Given the description of an element on the screen output the (x, y) to click on. 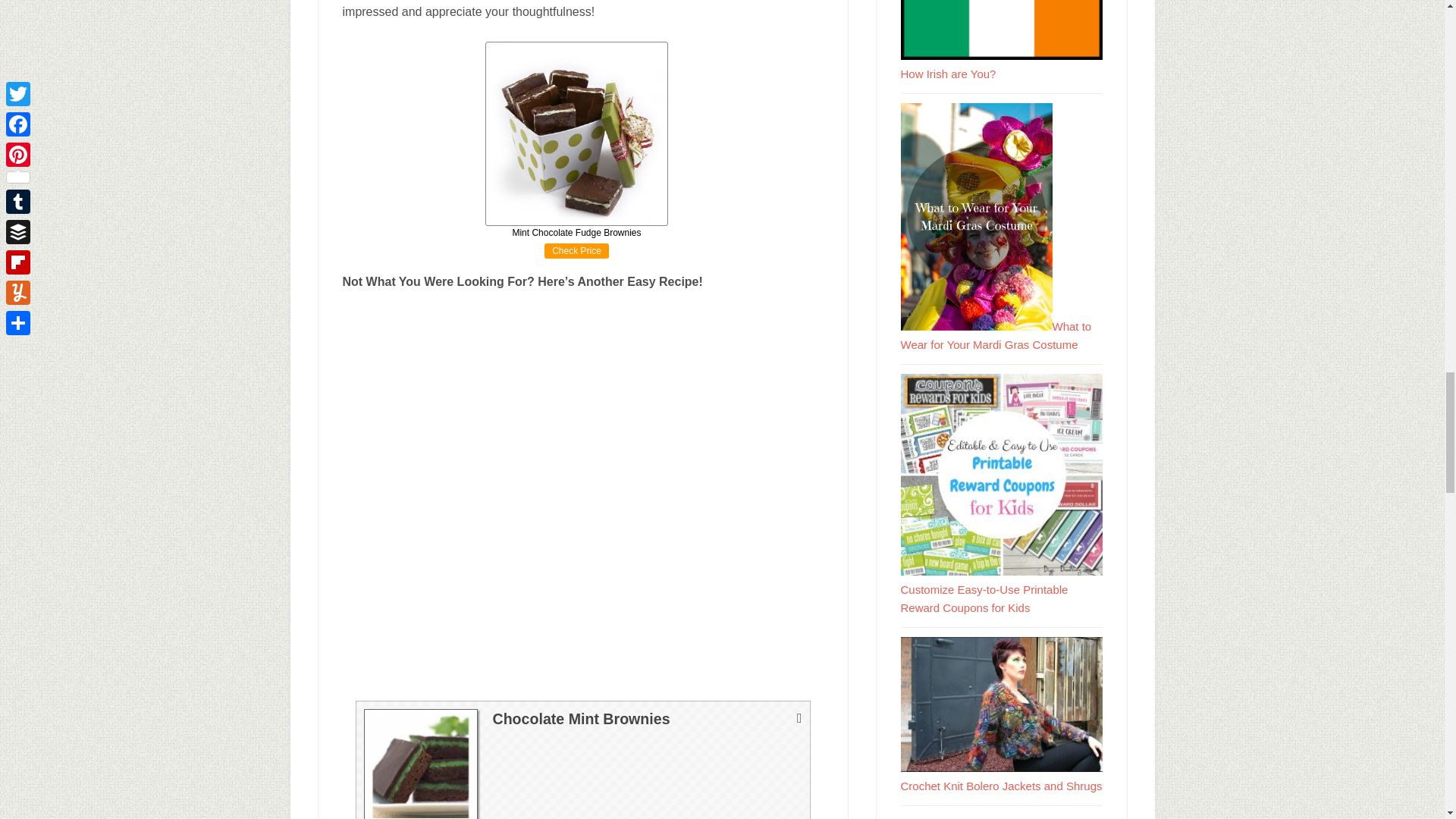
A plate of delicious, chocolate mint brownies (420, 764)
Chocolate Mint Brownies (532, 454)
